Given the description of an element on the screen output the (x, y) to click on. 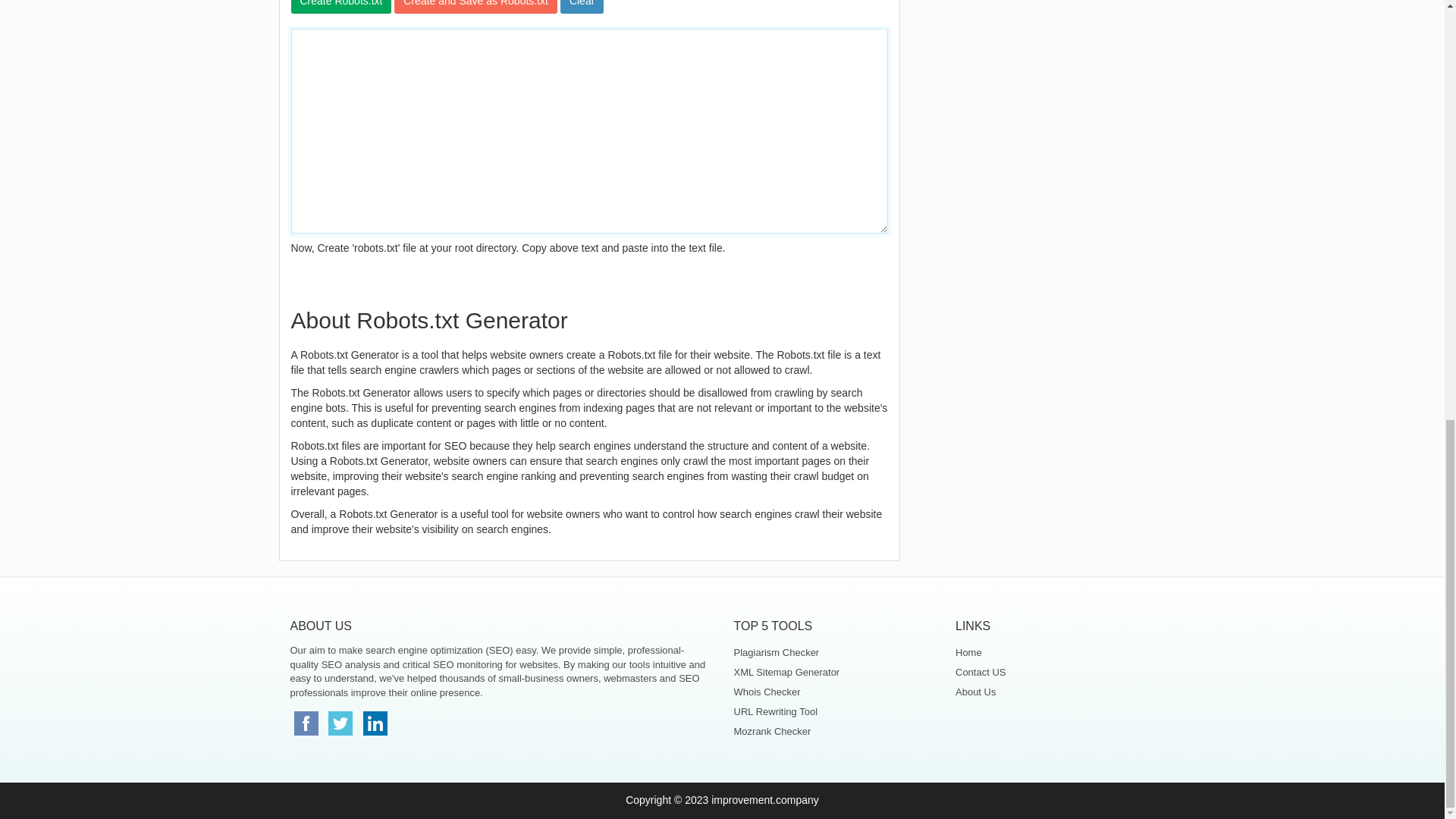
Whois Checker (833, 692)
Contact US (1054, 672)
Mozrank Checker (833, 731)
About Us (1054, 692)
XML Sitemap Generator (833, 672)
Clear (582, 6)
Home (1054, 652)
Create Robots.txt (341, 6)
Create and Save as Robots.txt (475, 6)
URL Rewriting Tool (833, 711)
Plagiarism Checker (833, 652)
